Given the description of an element on the screen output the (x, y) to click on. 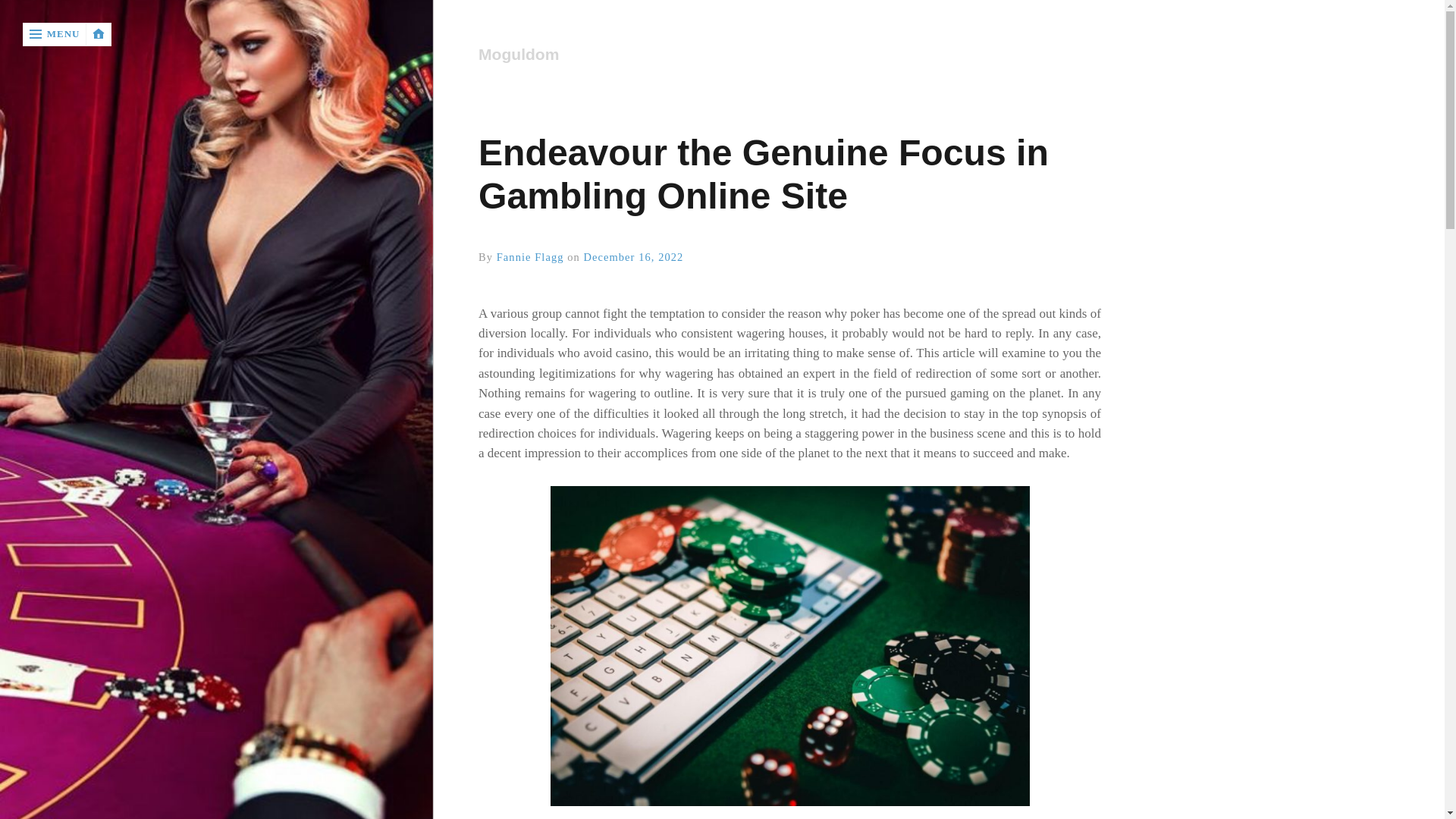
December 16, 2022 (633, 256)
Fannie Flagg (530, 256)
Home (789, 54)
6:23 am (633, 256)
Moguldom (788, 54)
View all posts by Fannie Flagg (530, 256)
MENU (55, 33)
